Given the description of an element on the screen output the (x, y) to click on. 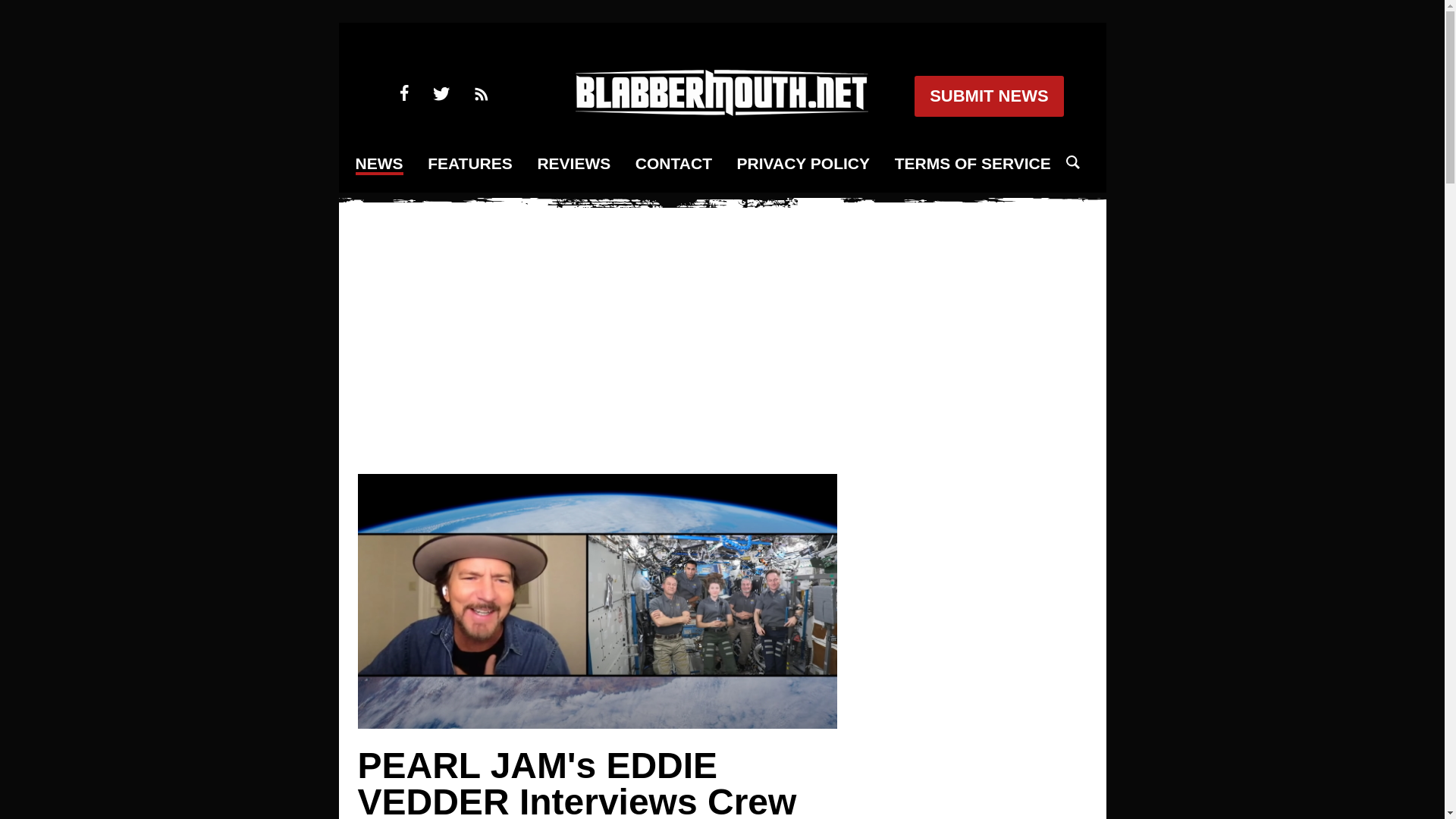
PRIVACY POLICY (802, 163)
NEWS (379, 164)
CONTACT (672, 163)
SUBMIT NEWS (988, 96)
blabbermouth (721, 110)
REVIEWS (573, 163)
FEATURES (470, 163)
search icon (1072, 161)
TERMS OF SERVICE (973, 163)
